Given the description of an element on the screen output the (x, y) to click on. 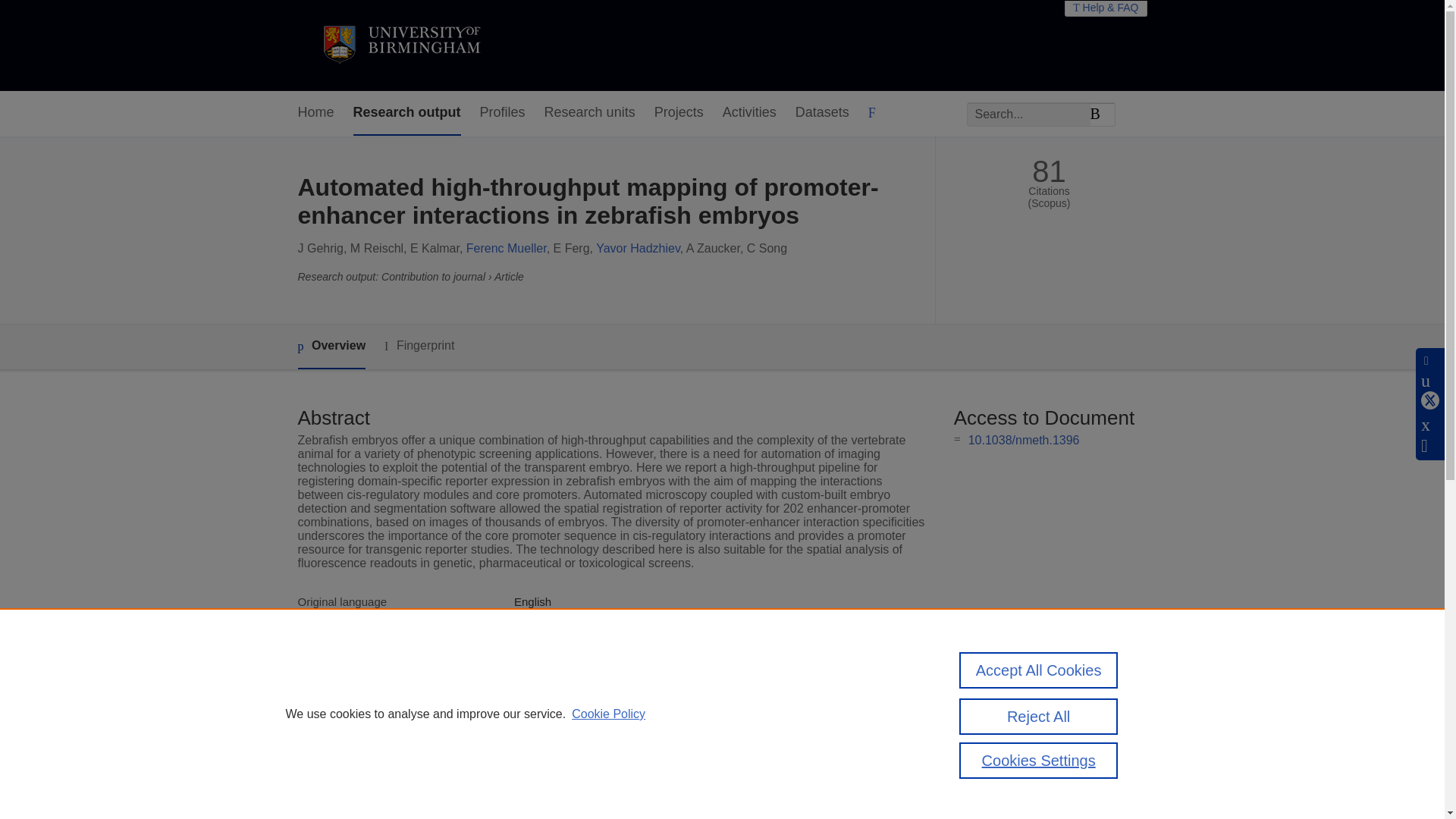
Overview (331, 346)
Projects (678, 112)
University of Birmingham Home (401, 45)
Research output (407, 112)
Yavor Hadzhiev (637, 247)
Fingerprint (419, 345)
Profiles (502, 112)
Activities (749, 112)
Ferenc Mueller (506, 247)
Datasets (821, 112)
Nature Methods (554, 653)
Research units (589, 112)
